Given the description of an element on the screen output the (x, y) to click on. 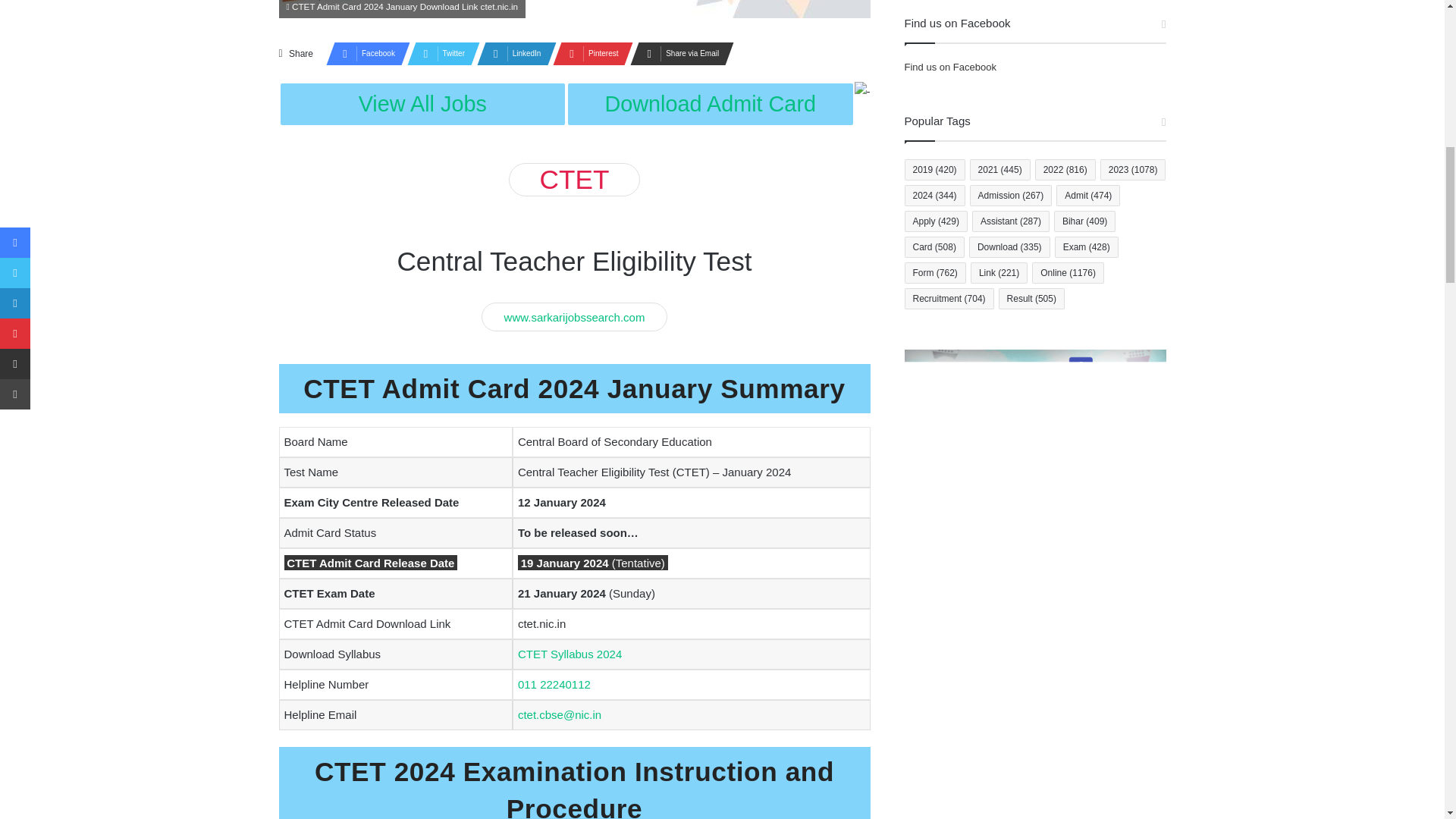
Facebook (363, 53)
Pinterest (588, 53)
Twitter (438, 53)
CTET Admit Card 2024 January Download Link ctet.nic.in 1 (574, 9)
LinkedIn (512, 53)
Facebook (363, 53)
Twitter (438, 53)
LinkedIn (512, 53)
